Given the description of an element on the screen output the (x, y) to click on. 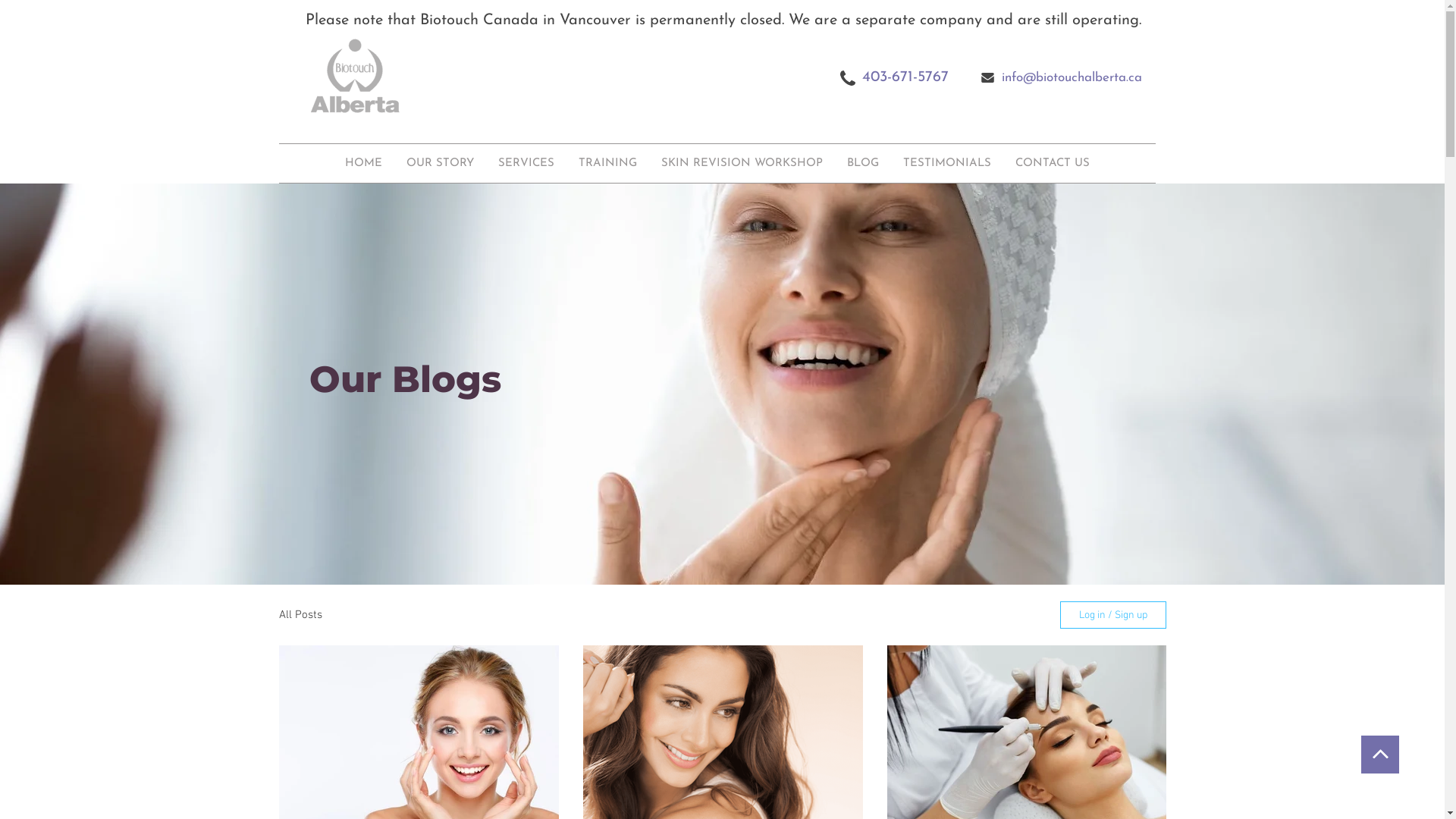
403-671-5767 Element type: text (904, 75)
CONTACT US Element type: text (1051, 163)
HOME Element type: text (379, 164)
BLOG Element type: text (862, 163)
TESTIMONIALS Element type: text (946, 163)
TRAINING Element type: text (613, 164)
OUR STORY Element type: text (452, 164)
SKIN REVISION WORKSHOP Element type: text (741, 163)
All Posts Element type: text (300, 614)
info@biotouchalberta.ca Element type: text (1063, 76)
SERVICES Element type: text (535, 164)
Log in / Sign up Element type: text (1113, 614)
